Given the description of an element on the screen output the (x, y) to click on. 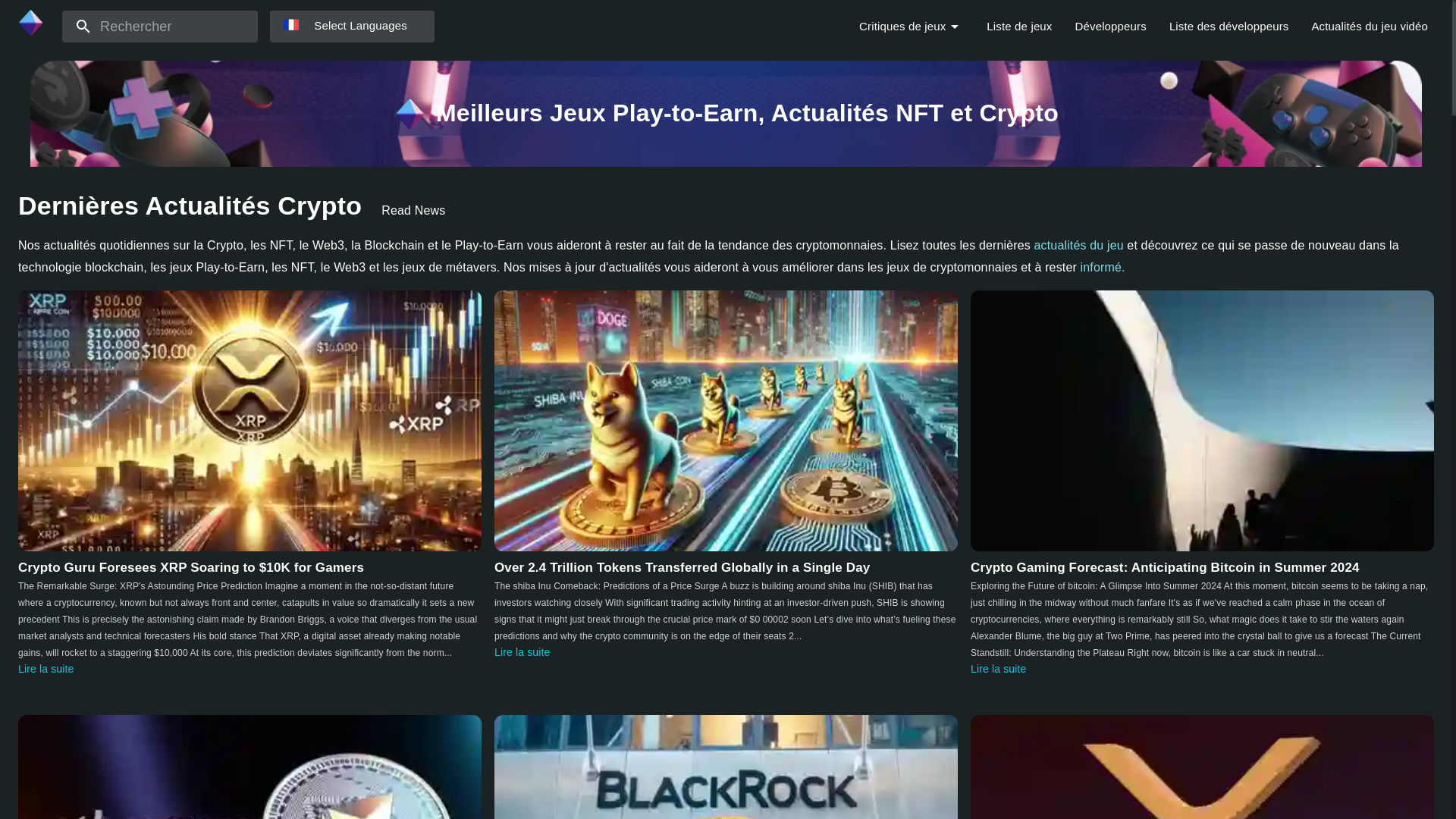
Lire la suite (522, 652)
Read News (413, 210)
Crypto Gaming Forecast: Anticipating Bitcoin in Summer 2024 (1202, 420)
Page d'accueil (28, 31)
Liste de jeux (1019, 26)
Play To Earn Games (29, 22)
Play To Earn Games (409, 113)
Critiques de jeux (901, 26)
Crypto Gaming Forecast: Anticipating Bitcoin in Summer 2024 (1165, 566)
Lire la suite (998, 668)
Lire la suite (45, 668)
